Given the description of an element on the screen output the (x, y) to click on. 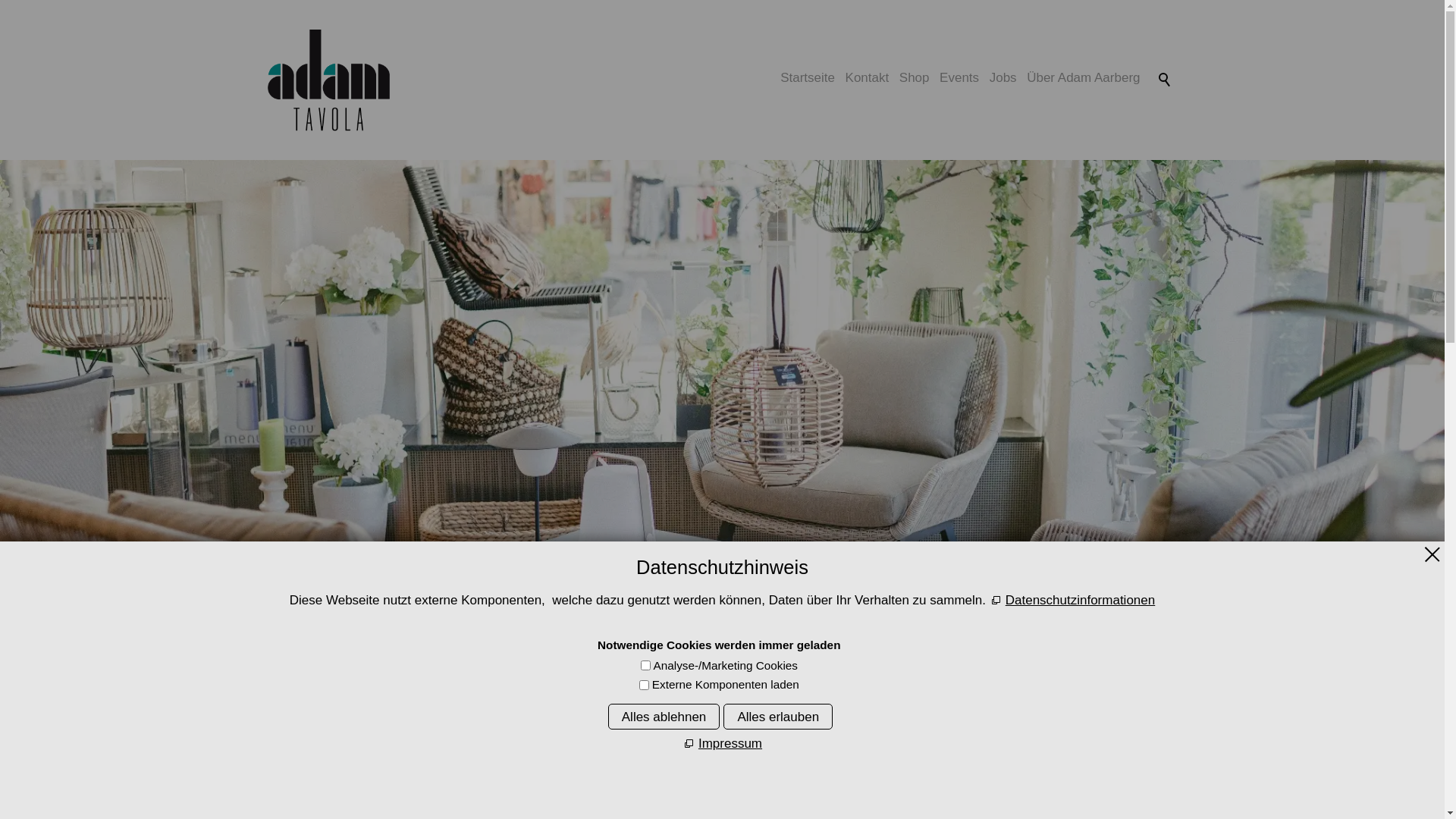
Alles ablehnen Element type: text (664, 716)
HAUSHALT Element type: text (601, 659)
Jobs Element type: text (1003, 77)
Impressum Element type: text (722, 743)
TAVOLA Element type: text (713, 659)
Kontakt Element type: text (867, 77)
Startseite Element type: text (807, 77)
Alles erlauben Element type: text (777, 716)
EISENWAREN Element type: text (834, 659)
Shop Element type: text (914, 77)
Events Element type: text (959, 77)
Datenschutzinformationen Element type: text (1072, 600)
Zur Startseite Tavola Element type: hover (327, 79)
